Given the description of an element on the screen output the (x, y) to click on. 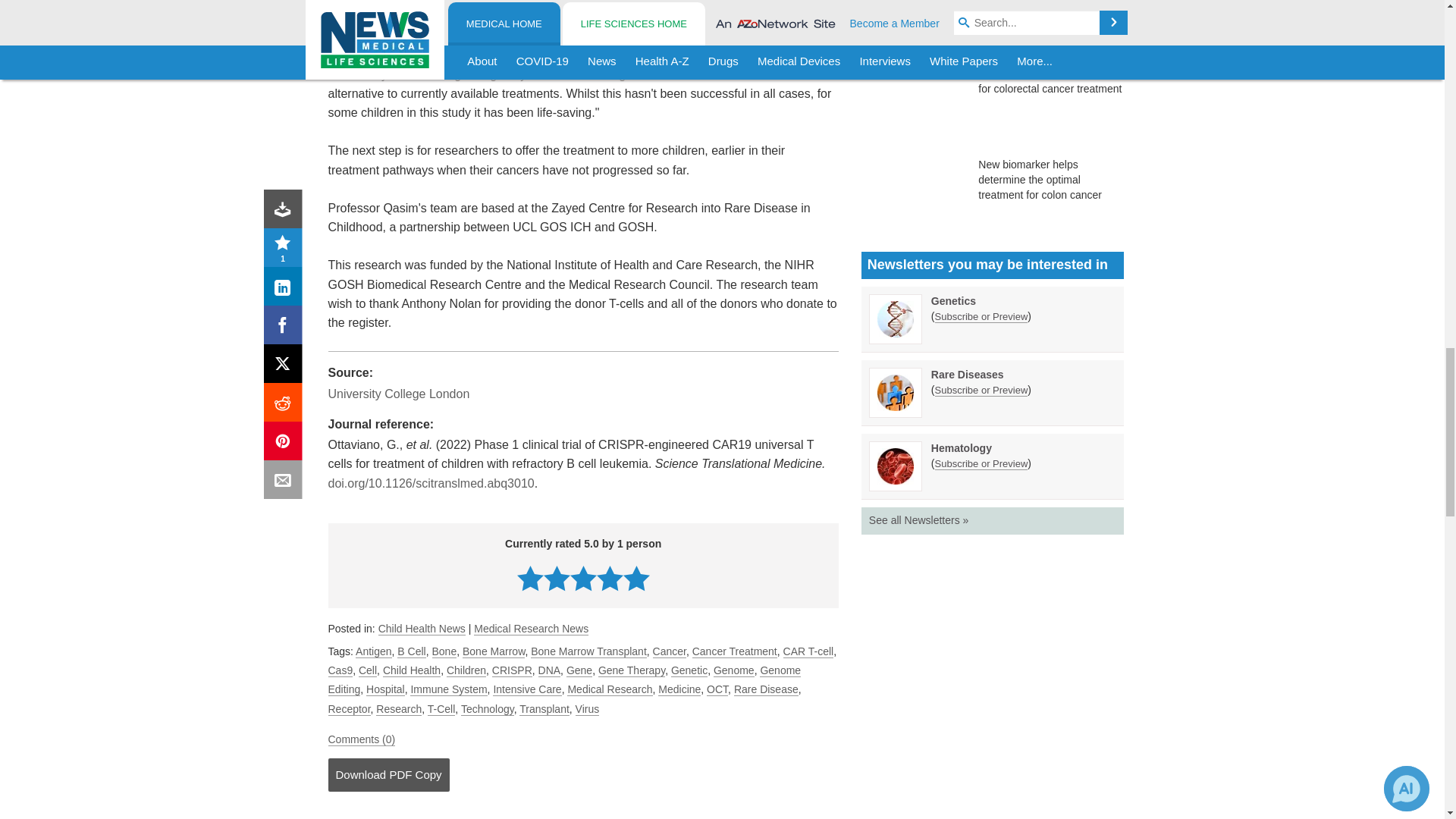
Rate this 4 stars out of 5 (609, 578)
Rate this 5 stars out of 5 (636, 578)
